Given the description of an element on the screen output the (x, y) to click on. 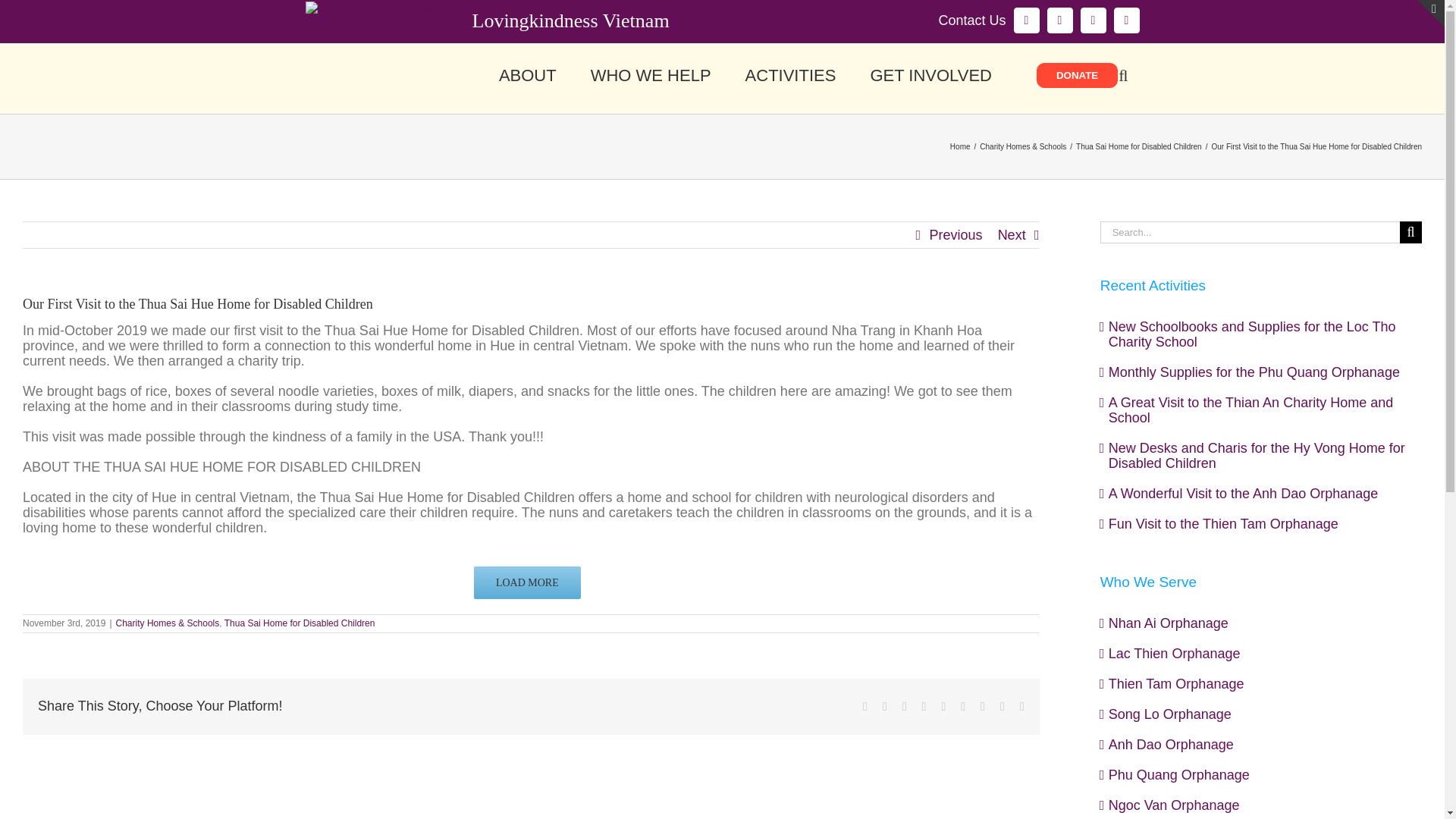
DONATE (1077, 75)
WHO WE HELP (651, 74)
X (1058, 20)
Facebook (1026, 20)
LinkedIn (1125, 20)
ACTIVITIES (790, 74)
Contact Us (971, 20)
LinkedIn (1125, 20)
GET INVOLVED (930, 74)
Instagram (1092, 20)
ABOUT (527, 74)
X (1058, 20)
Instagram (1092, 20)
Home (960, 146)
